Given the description of an element on the screen output the (x, y) to click on. 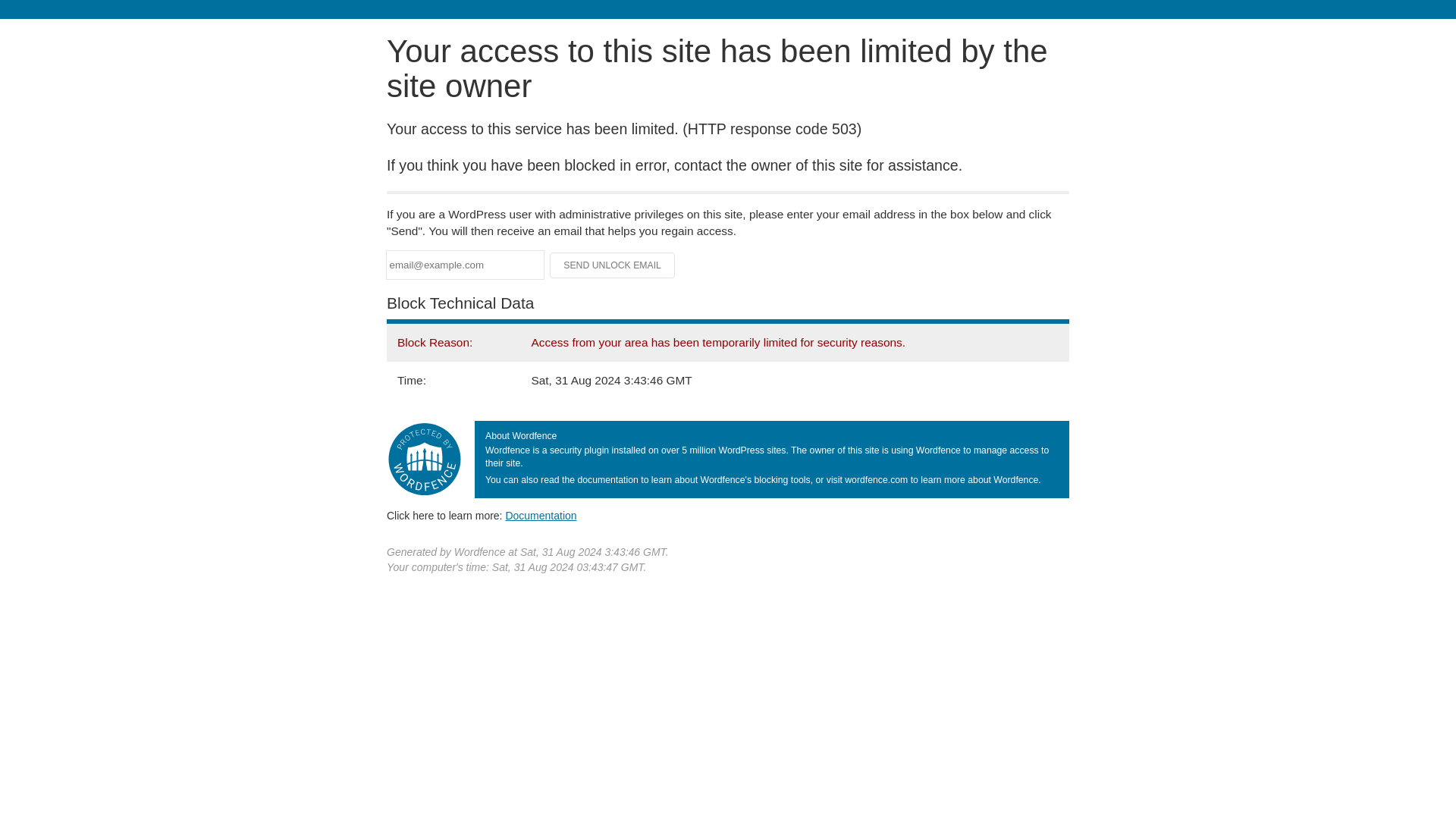
Documentation (540, 515)
Send Unlock Email (612, 265)
Send Unlock Email (612, 265)
